Given the description of an element on the screen output the (x, y) to click on. 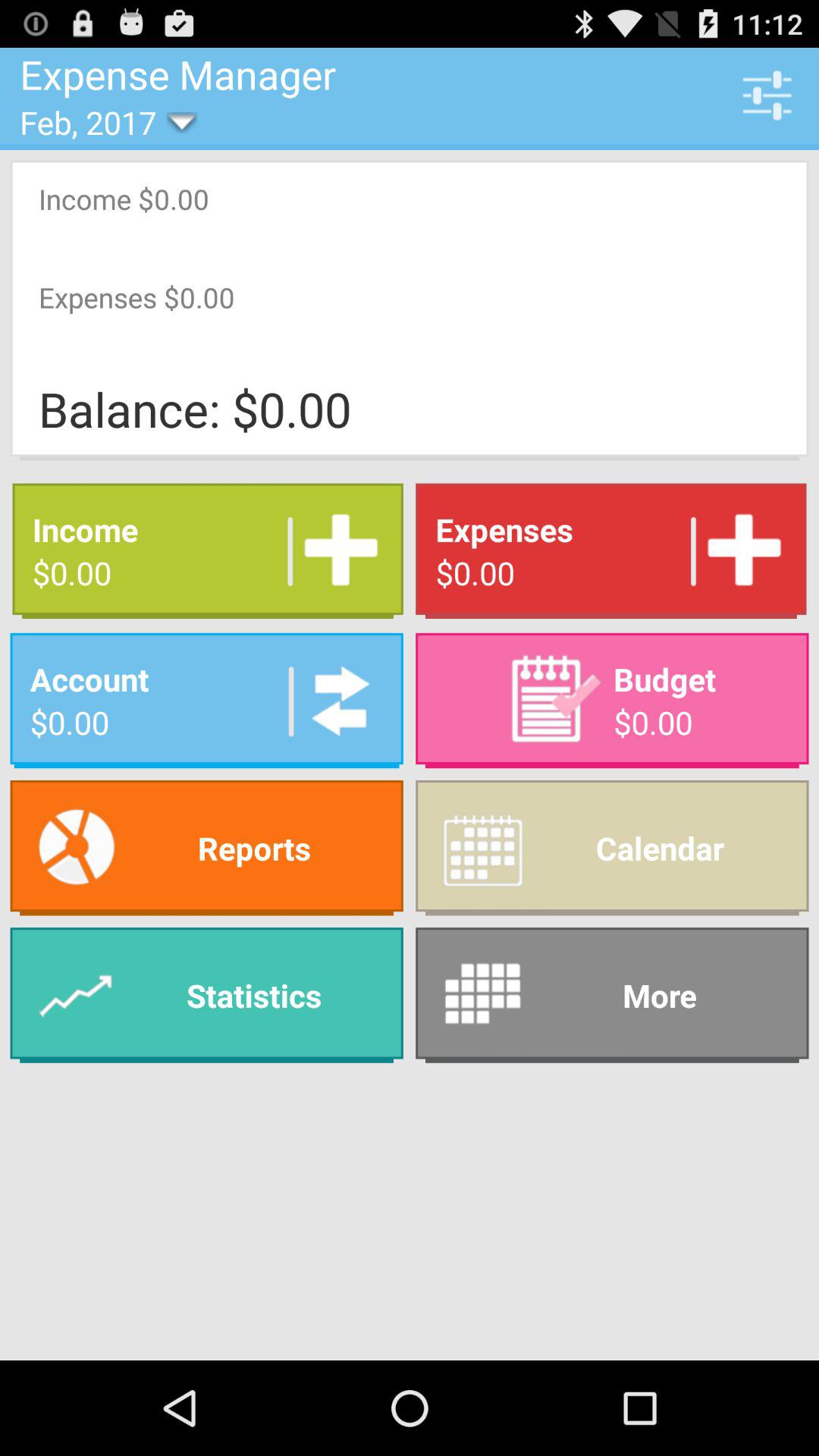
click app next to calendar app (206, 847)
